Given the description of an element on the screen output the (x, y) to click on. 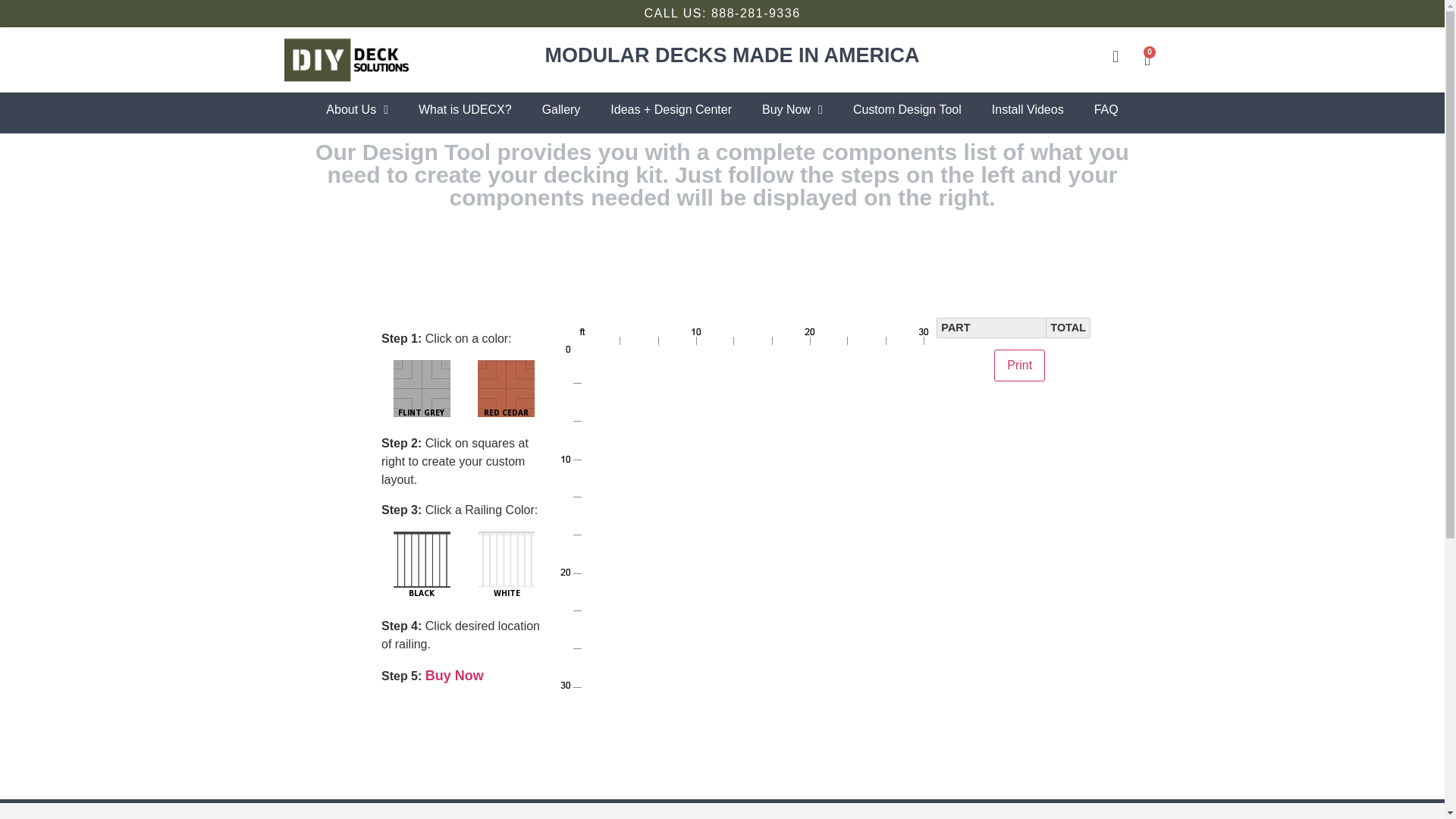
Buy Now (792, 109)
Print (1019, 365)
Buy Now (454, 675)
Custom Design Tool (907, 109)
CALL US: 888-281-9336 (721, 12)
Install Videos (1027, 109)
0 (1147, 59)
About Us (357, 109)
What is UDECX? (465, 109)
FAQ (1106, 109)
